Given the description of an element on the screen output the (x, y) to click on. 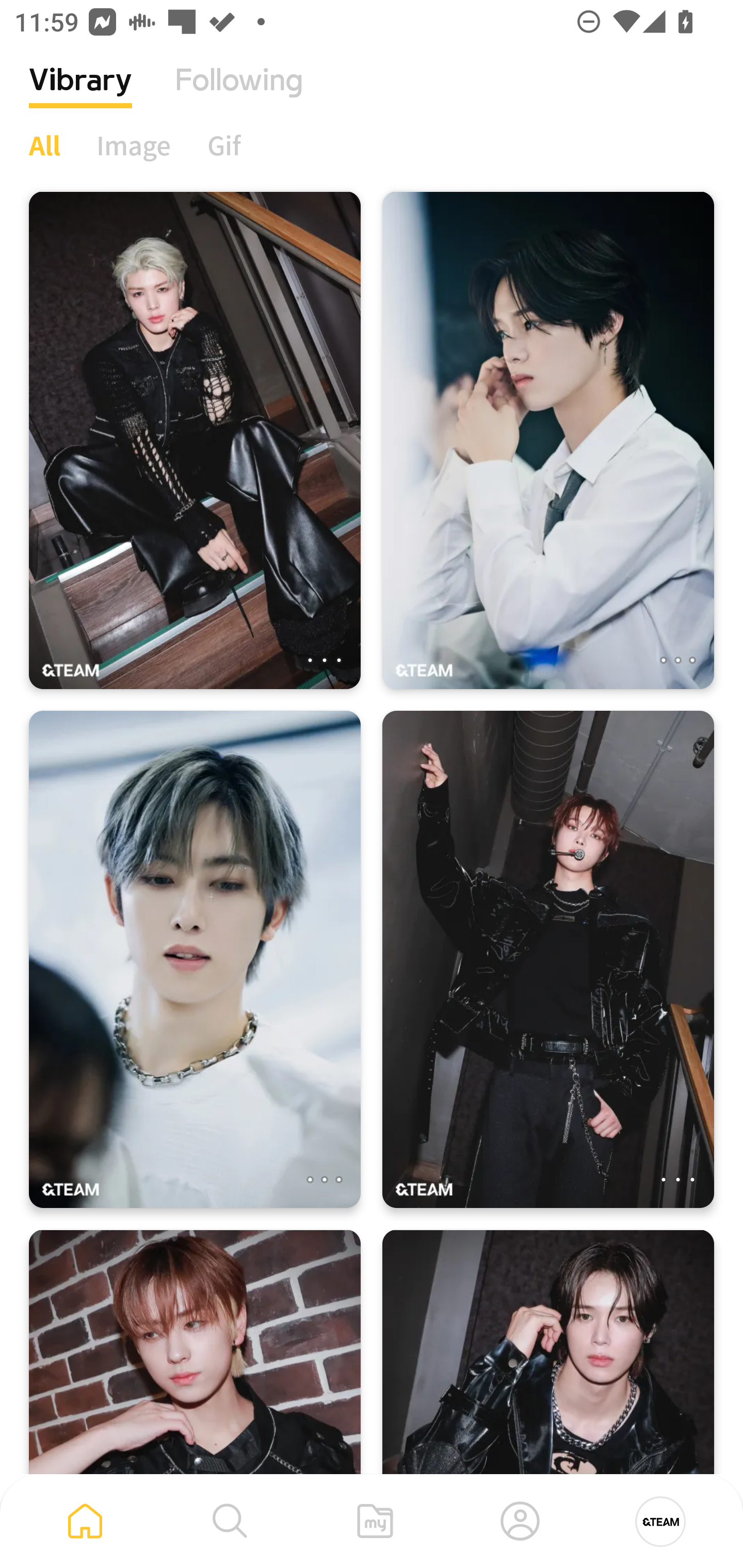
Vibrary (80, 95)
Following (239, 95)
All (44, 145)
Image (133, 145)
Gif (223, 145)
